Given the description of an element on the screen output the (x, y) to click on. 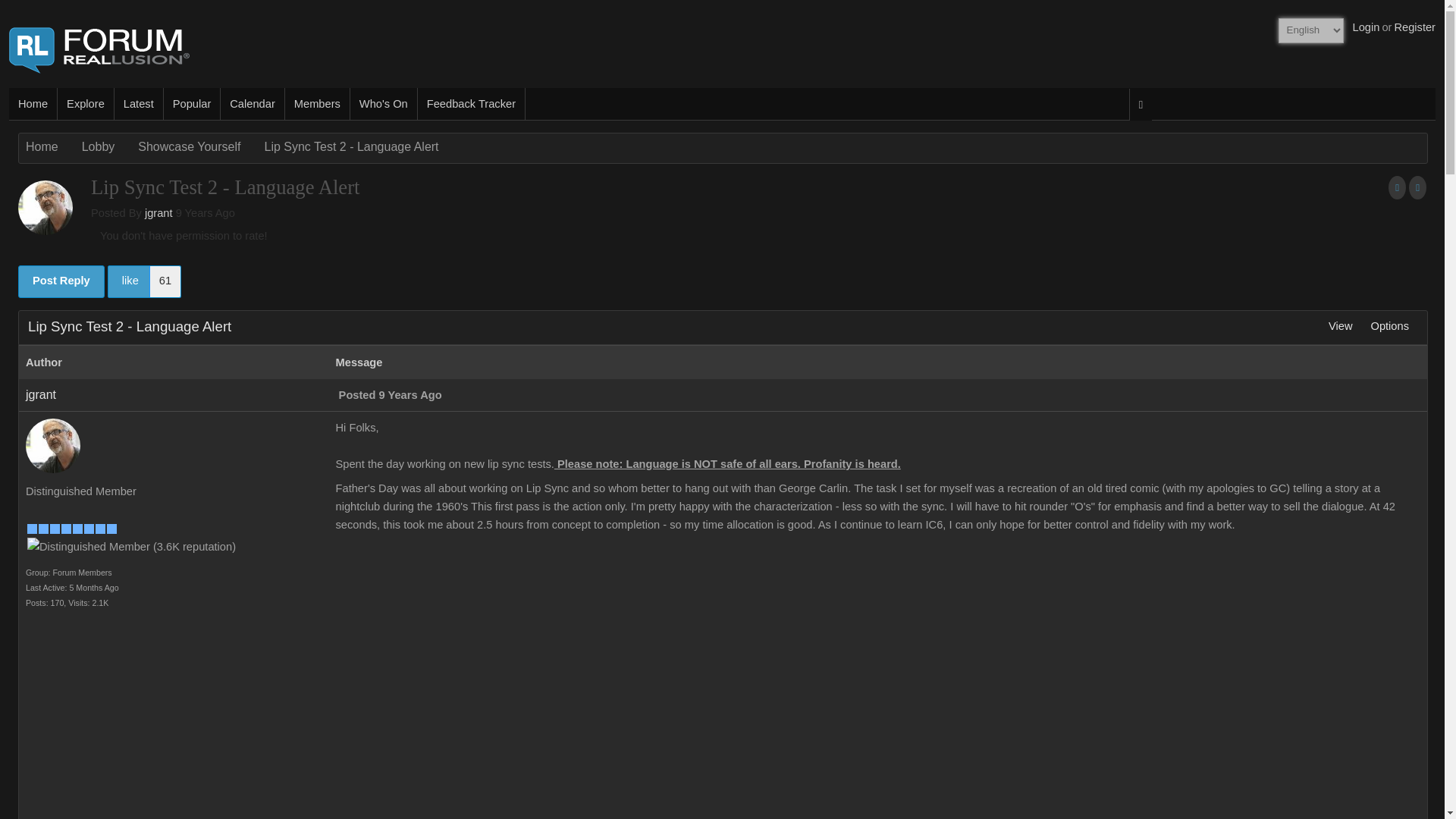
Click to view Lobby (96, 146)
Explore (86, 103)
Members (317, 103)
Feedback Tracker (471, 103)
Popular (192, 103)
Calendar (252, 103)
Explore (86, 103)
Showcase Yourself (187, 146)
Members (317, 103)
Register (1414, 27)
Register (1414, 27)
Home (33, 103)
Popular (192, 103)
View (1340, 326)
Post Reply (60, 281)
